Given the description of an element on the screen output the (x, y) to click on. 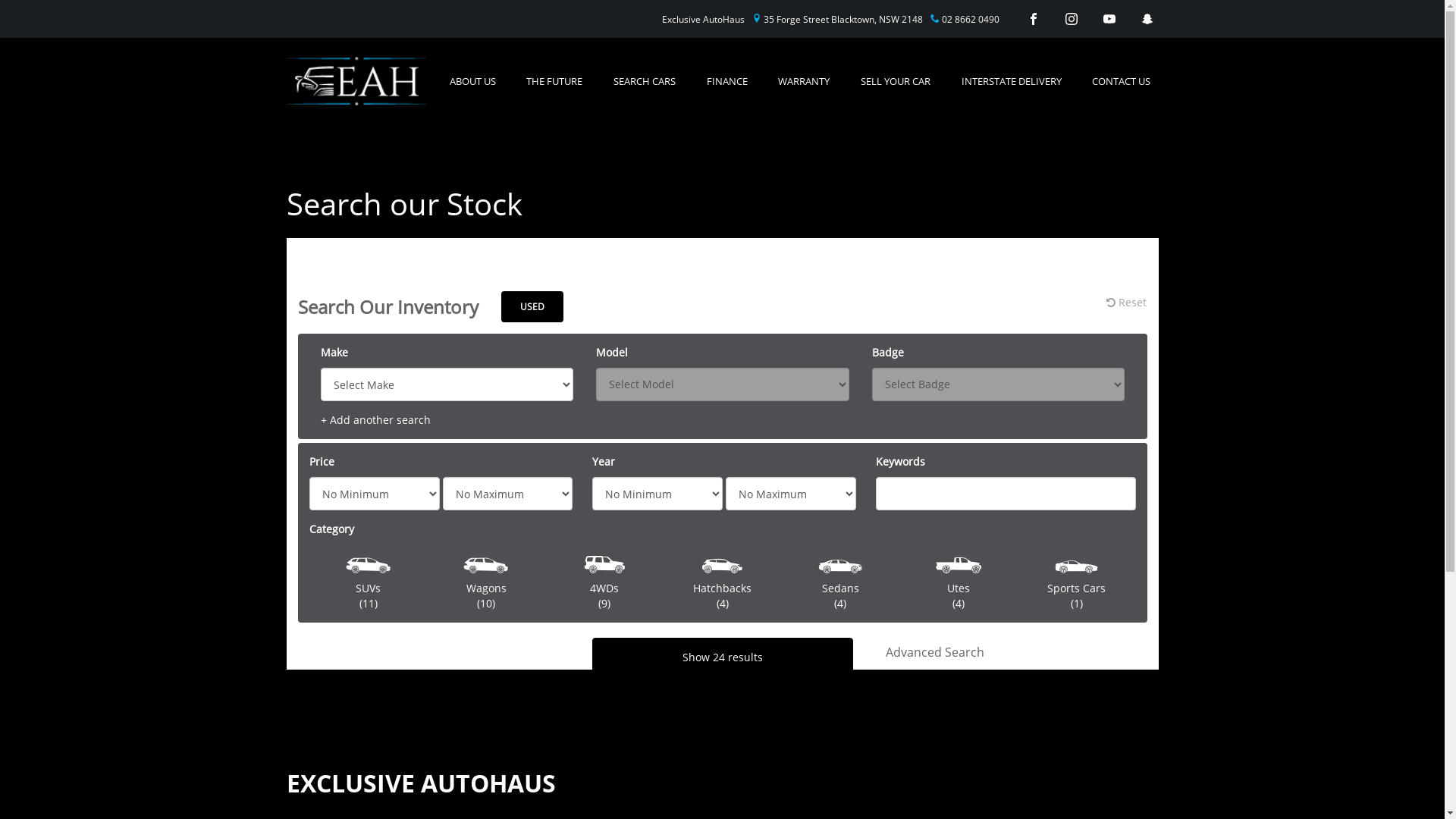
WARRANTY Element type: text (803, 81)
INTERSTATE DELIVERY Element type: text (1011, 81)
CONTACT US Element type: text (1120, 81)
35 Forge Street Blacktown, NSW 2148 Element type: text (837, 19)
02 8662 0490 Element type: text (963, 19)
THE FUTURE Element type: text (553, 81)
FINANCE Element type: text (727, 81)
SELL YOUR CAR Element type: text (895, 81)
SEARCH CARS Element type: text (644, 81)
ABOUT US Element type: text (471, 81)
Exclusive AutoHaus Element type: text (702, 19)
